Given the description of an element on the screen output the (x, y) to click on. 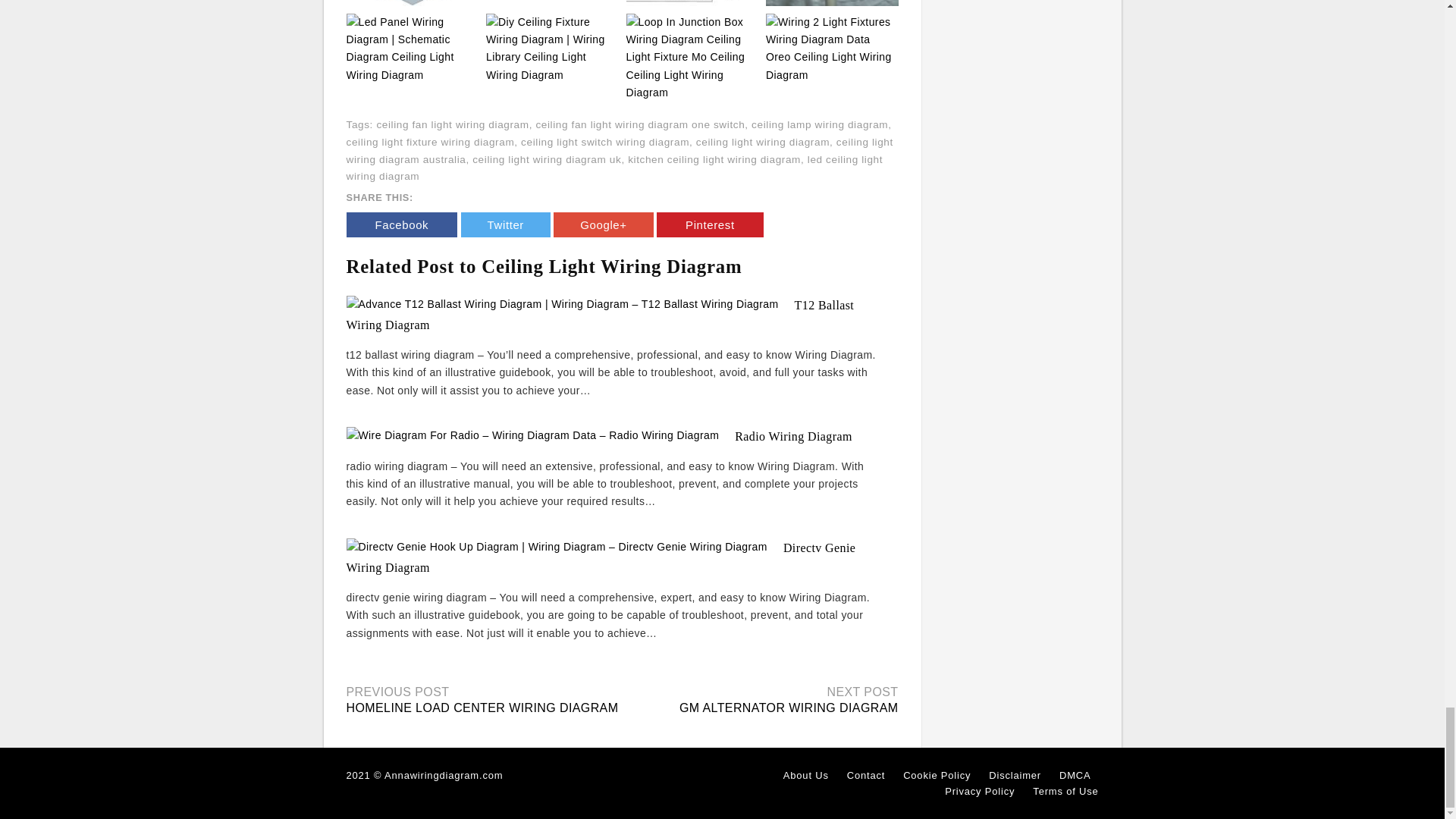
ceiling light switch wiring diagram (604, 142)
ceiling light wiring diagram (762, 142)
ceiling light fixture wiring diagram (429, 142)
Twitter (505, 224)
led ceiling light wiring diagram (614, 167)
Pinterest (709, 224)
Directv Genie Wiring Diagram (601, 557)
Facebook (401, 224)
ceiling fan light wiring diagram (451, 124)
